Given the description of an element on the screen output the (x, y) to click on. 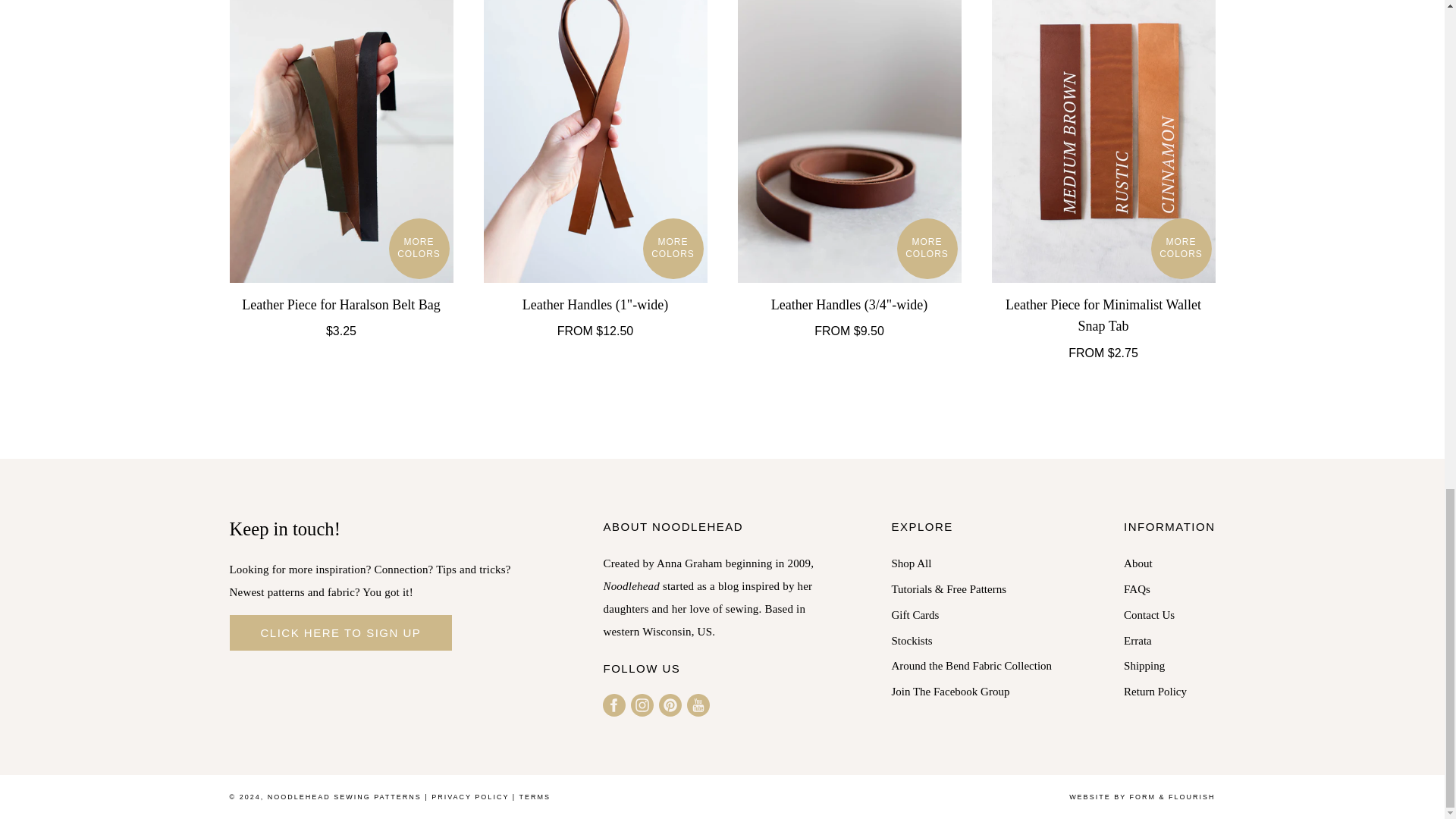
Noodlehead Sewing Patterns on Pinterest (670, 704)
Noodlehead Sewing Patterns on YouTube (698, 704)
Noodlehead Sewing Patterns on Instagram (641, 704)
Noodlehead Sewing Patterns on Facebook (614, 704)
